Given the description of an element on the screen output the (x, y) to click on. 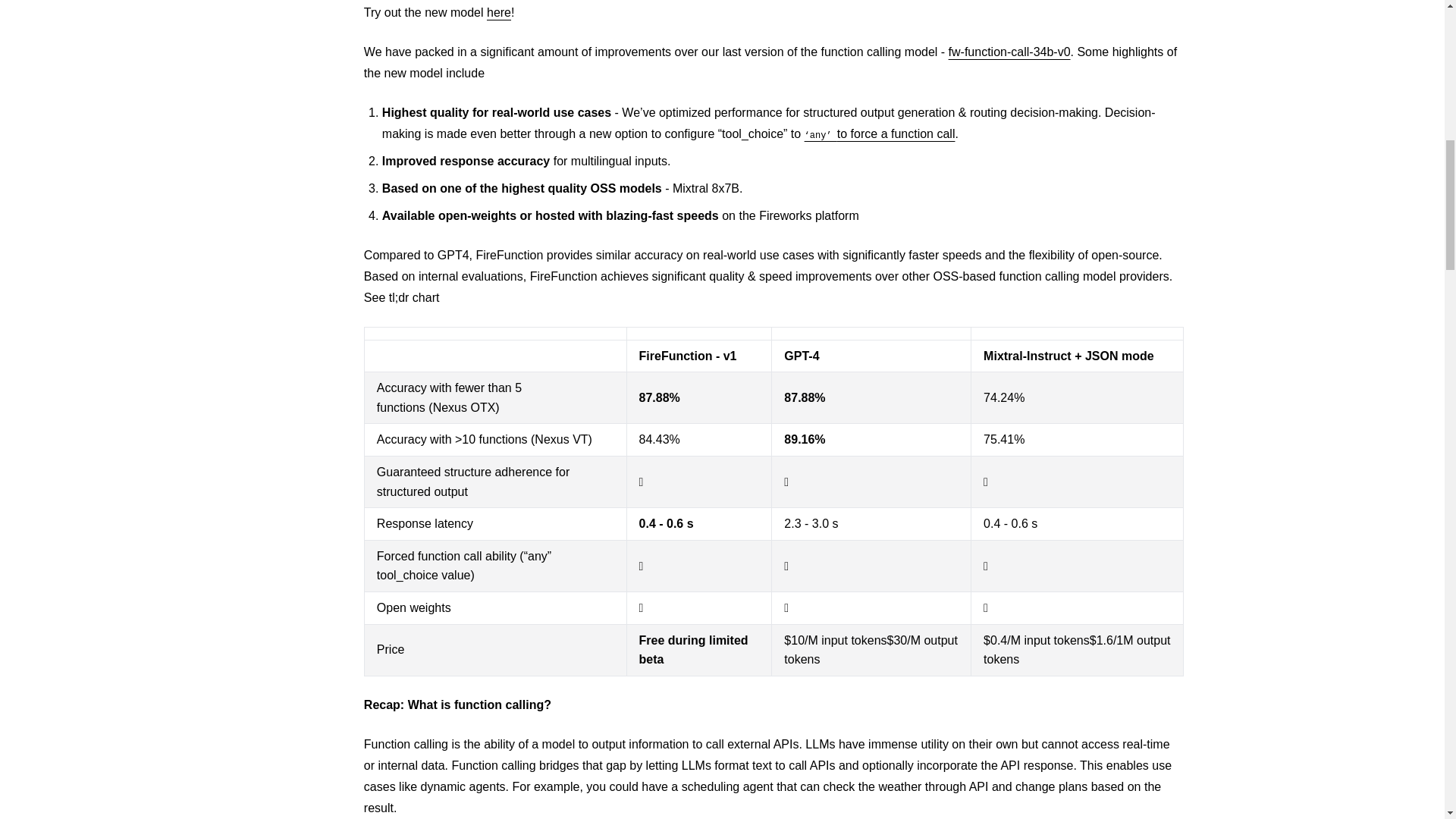
fw-function-call-34b-v0 (1009, 51)
here (498, 11)
